Given the description of an element on the screen output the (x, y) to click on. 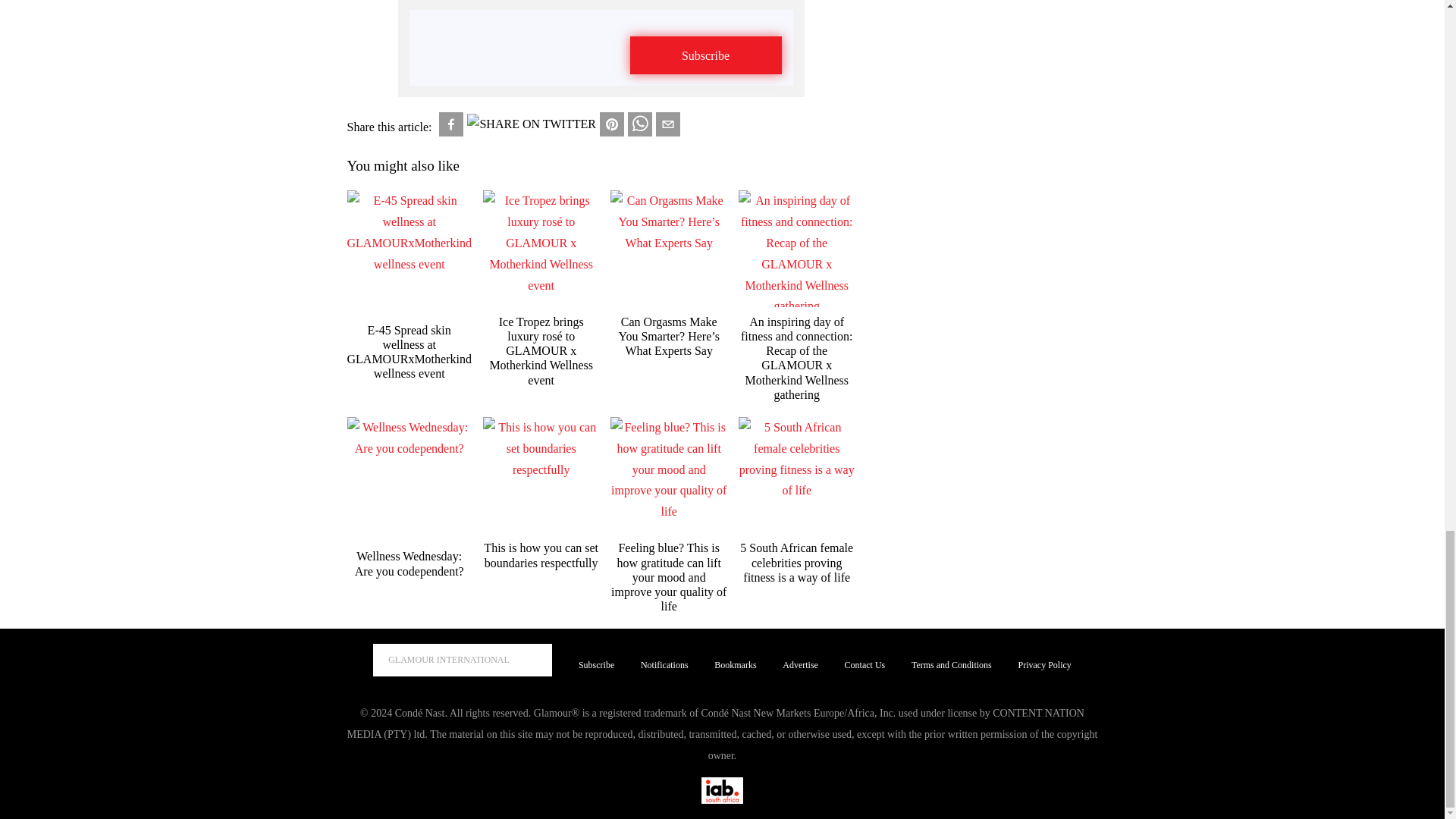
Privacy Policy (1043, 665)
Contact Us (864, 665)
Share on Twitter (531, 124)
Bookmarks (734, 665)
Terms and Conditions (951, 665)
Subscribe (704, 55)
Notifications (664, 665)
